Given the description of an element on the screen output the (x, y) to click on. 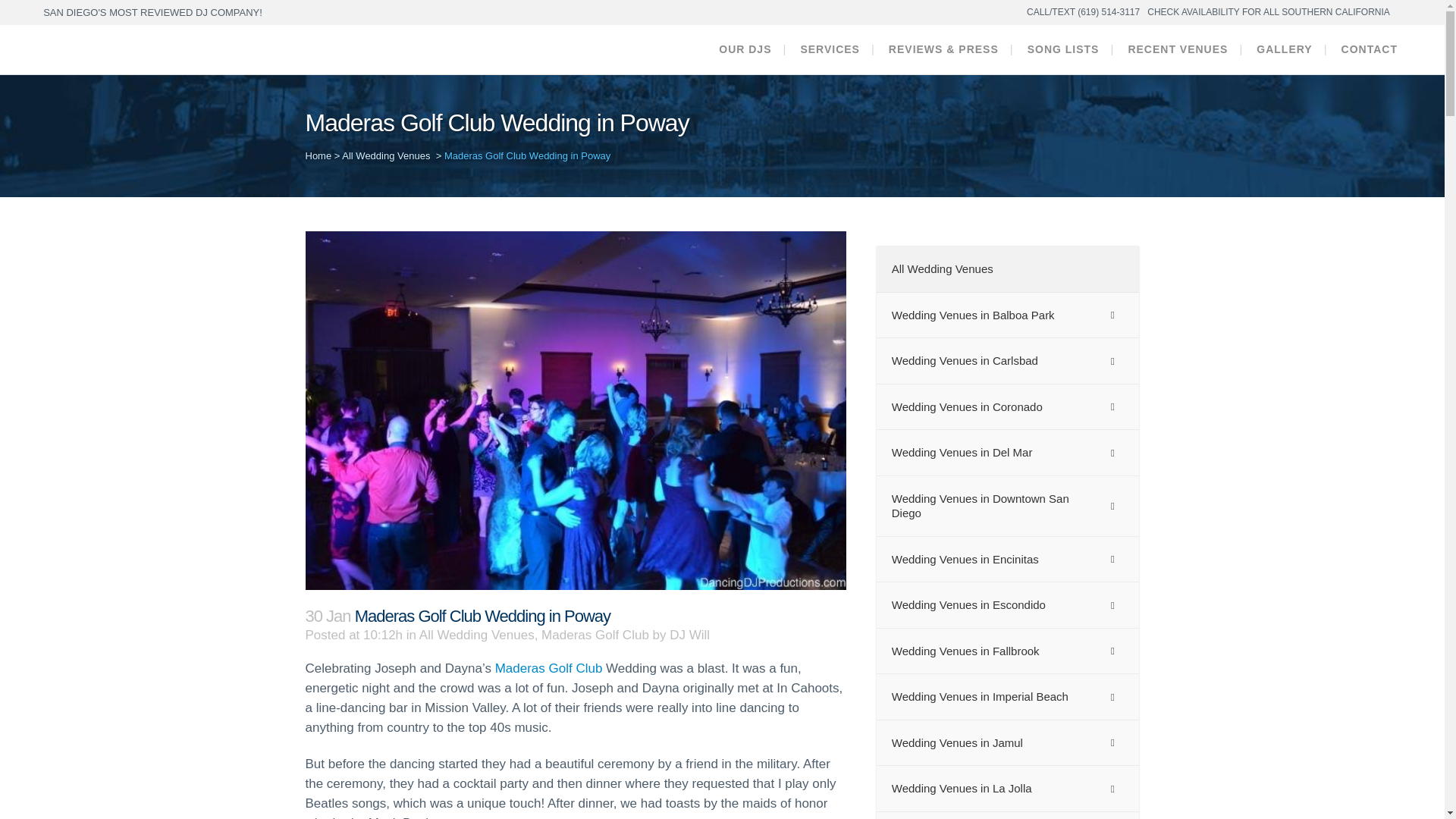
SONG LISTS (1063, 49)
SERVICES (829, 49)
CONTACT (1368, 49)
CHECK AVAILABILITY FOR ALL SOUTHERN CALIFORNIA (1268, 12)
OUR DJS (745, 49)
RECENT VENUES (1177, 49)
GALLERY (1283, 49)
SAN DIEGO'S MOST REVIEWED DJ COMPANY! (152, 12)
